Given the description of an element on the screen output the (x, y) to click on. 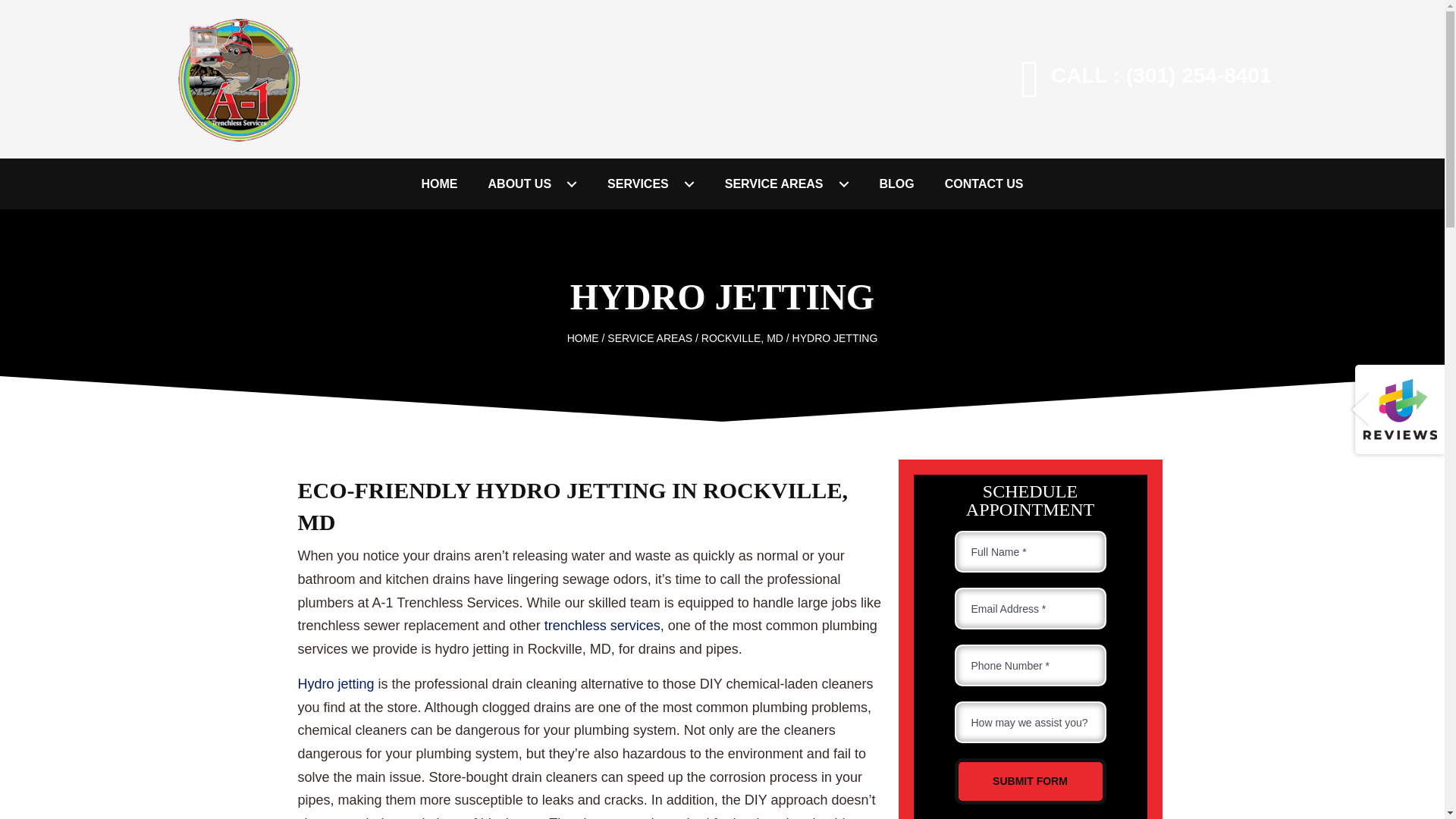
Submit Form (1029, 781)
A-1 Trenchless Services (237, 79)
ABOUT US (532, 183)
SERVICE AREAS (787, 183)
SERVICES (651, 183)
HOME (439, 183)
